Given the description of an element on the screen output the (x, y) to click on. 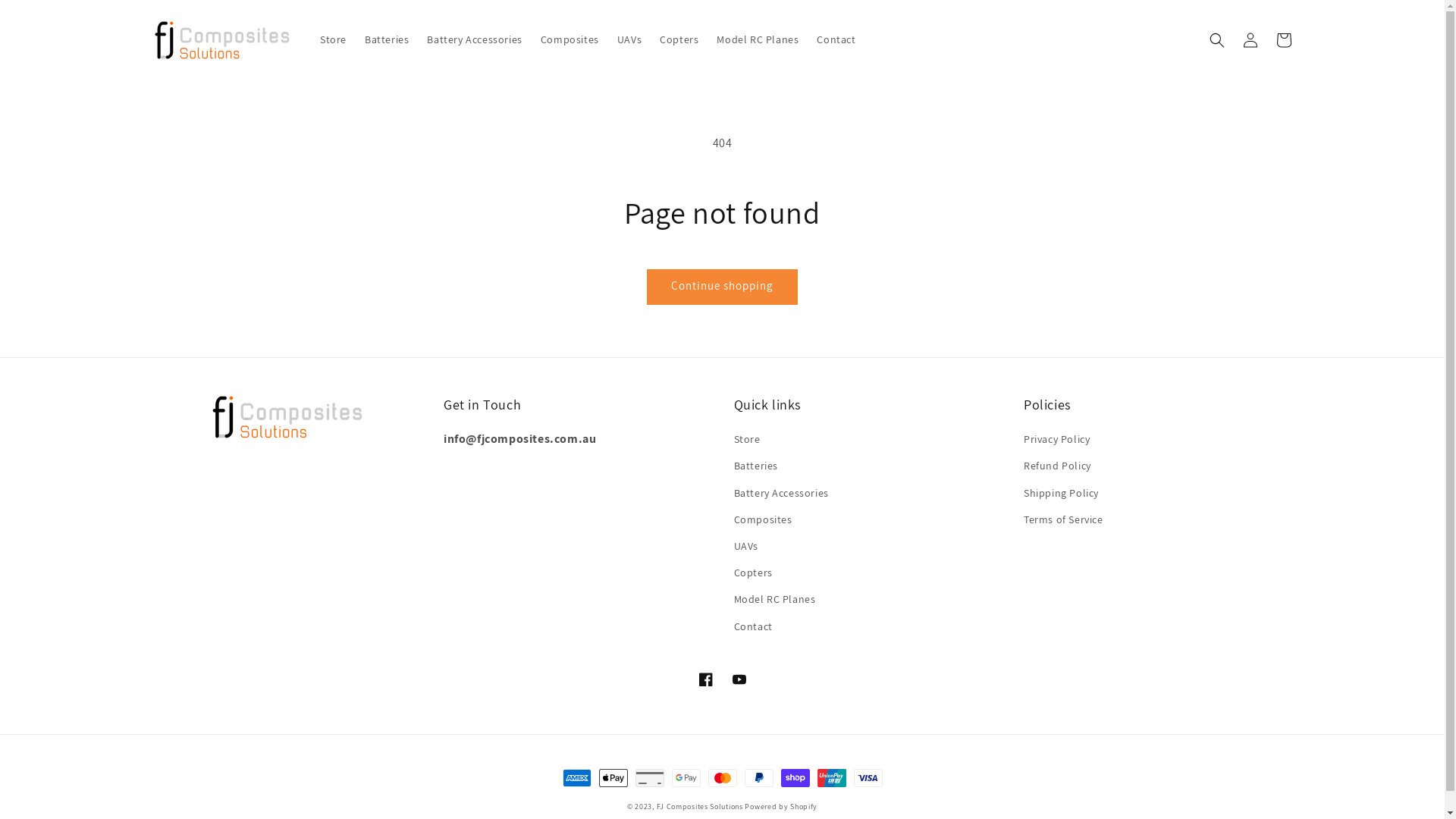
FJ Composites Solutions Element type: text (699, 806)
Store Element type: text (332, 39)
Model RC Planes Element type: text (757, 39)
Copters Element type: text (753, 572)
Contact Element type: text (835, 39)
Powered by Shopify Element type: text (780, 806)
Battery Accessories Element type: text (781, 493)
Composites Element type: text (569, 39)
Contact Element type: text (753, 625)
Continue shopping Element type: text (722, 286)
YouTube Element type: text (738, 679)
Facebook Element type: text (704, 679)
UAVs Element type: text (629, 39)
Cart Element type: text (1282, 39)
Composites Element type: text (763, 519)
Shipping Policy Element type: text (1060, 493)
Batteries Element type: text (756, 465)
Refund Policy Element type: text (1057, 465)
UAVs Element type: text (746, 546)
Store Element type: text (747, 440)
Terms of Service Element type: text (1063, 519)
Privacy Policy Element type: text (1056, 440)
Batteries Element type: text (386, 39)
Copters Element type: text (678, 39)
Model RC Planes Element type: text (774, 599)
Log in Element type: text (1249, 39)
Battery Accessories Element type: text (473, 39)
